Given the description of an element on the screen output the (x, y) to click on. 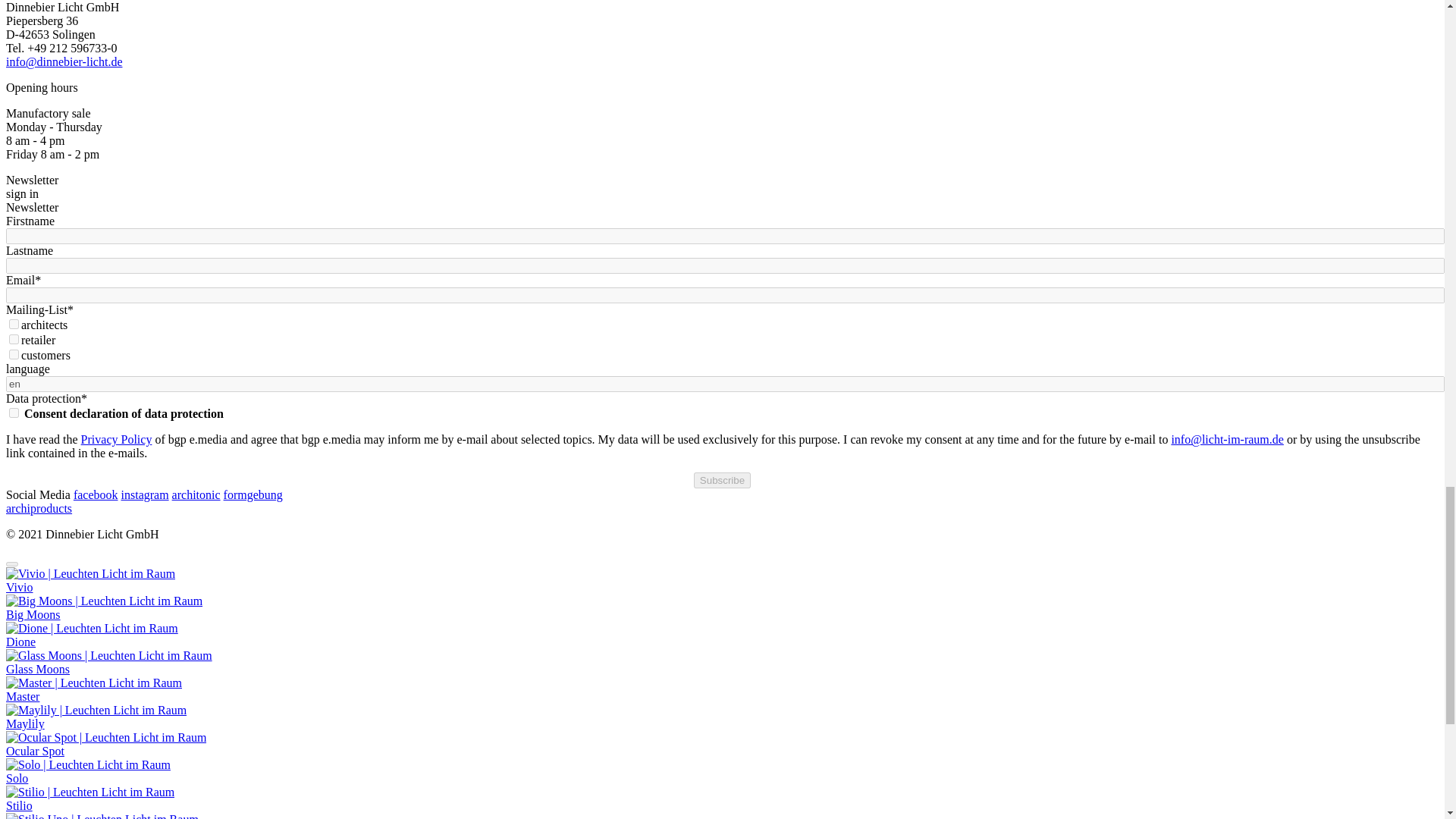
customers (13, 354)
Yes, i accept the data protection (13, 412)
retailer (13, 338)
sign in (22, 193)
architects (13, 324)
